Given the description of an element on the screen output the (x, y) to click on. 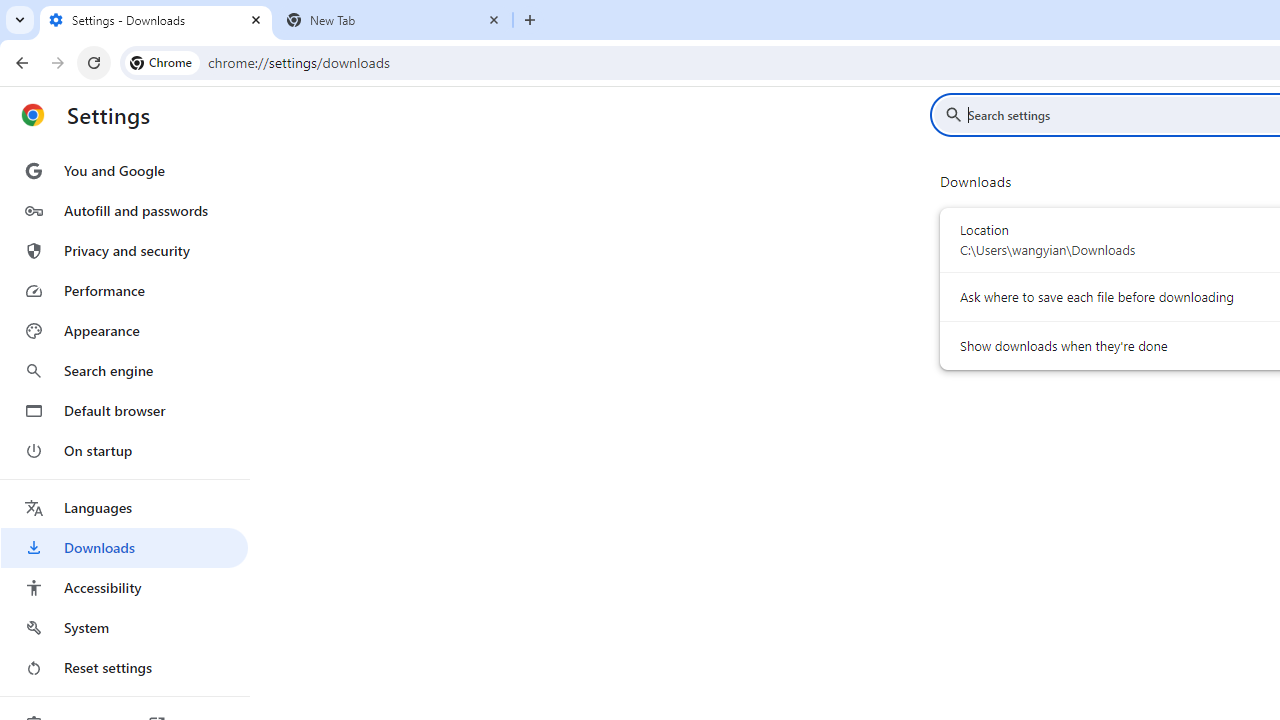
Languages (124, 507)
Search engine (124, 370)
You and Google (124, 170)
Autofill and passwords (124, 210)
Accessibility (124, 587)
